Given the description of an element on the screen output the (x, y) to click on. 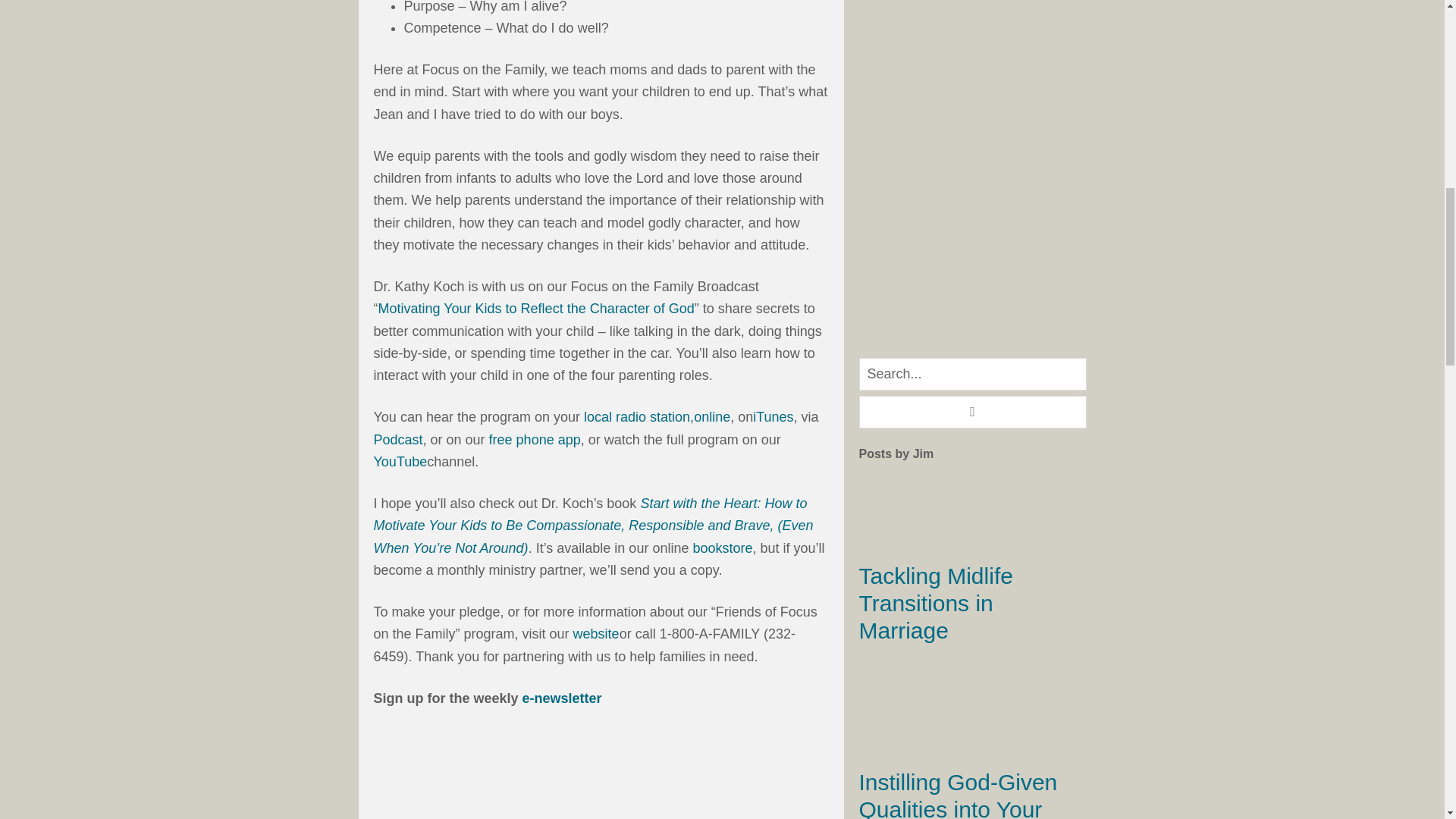
Podcast (397, 439)
YouTube (399, 461)
e-newsletter (562, 698)
website (596, 633)
local radio station (636, 417)
iTunes (772, 417)
bookstore (722, 548)
free phone app (534, 439)
online (712, 417)
Motivating Your Kids to Reflect the Character of God (535, 308)
